Given the description of an element on the screen output the (x, y) to click on. 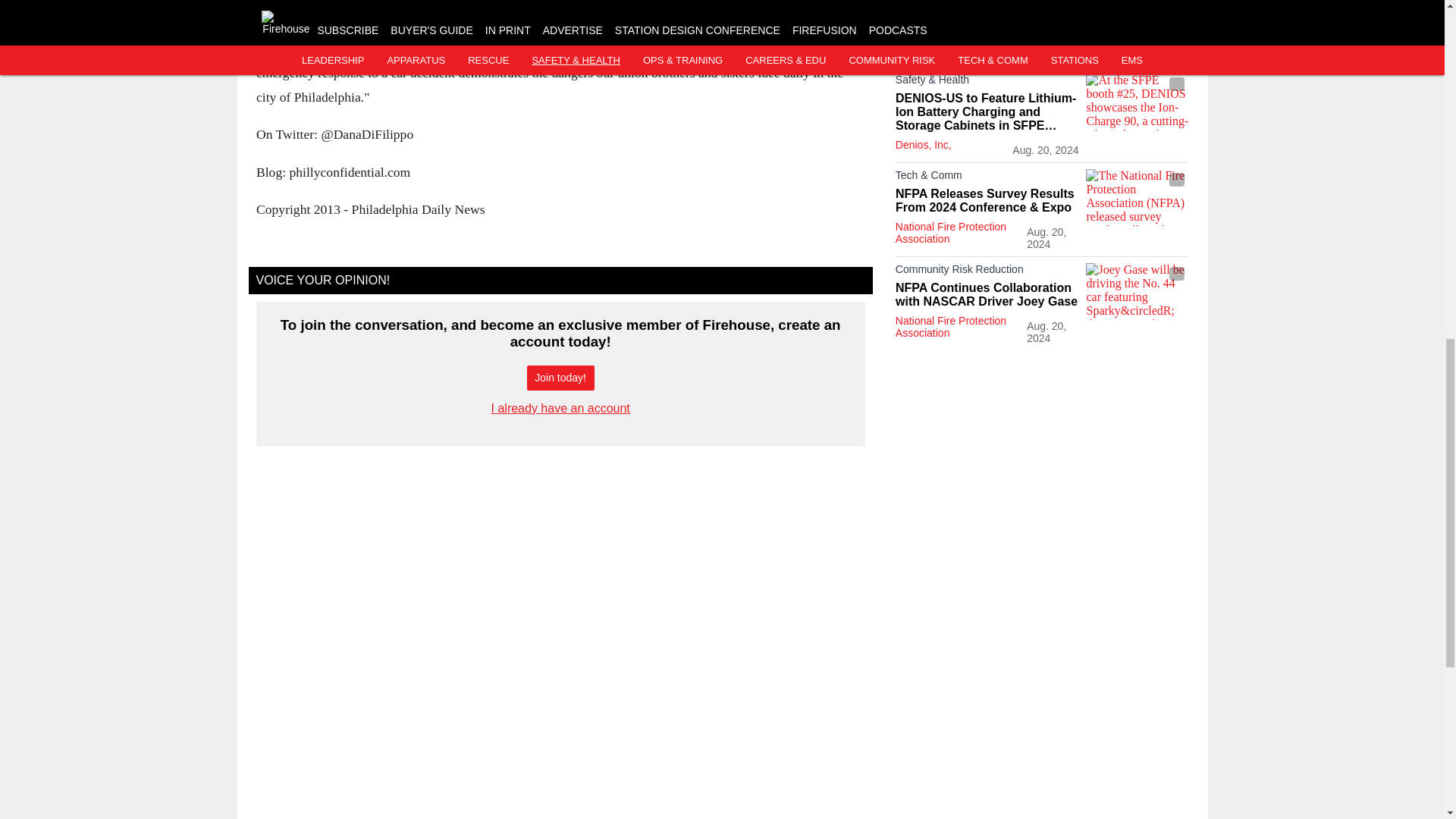
I already have an account (561, 408)
Phenix Gateway (1137, 17)
Phenix Technology, Inc. (951, 49)
Join today! (560, 377)
